Given the description of an element on the screen output the (x, y) to click on. 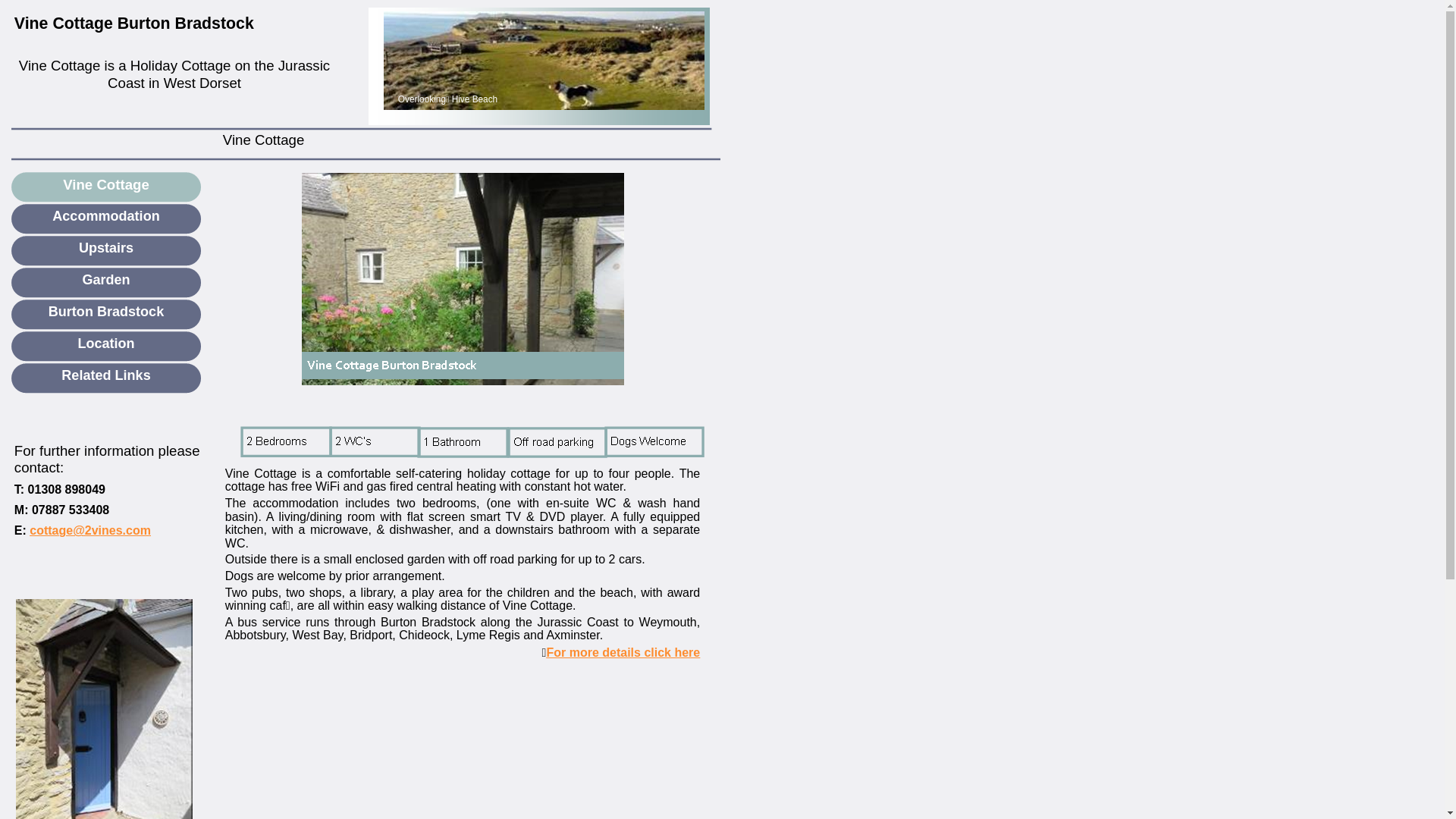
For more details click here Element type: text (622, 652)
cottage@2vines.com Element type: text (89, 531)
